Given the description of an element on the screen output the (x, y) to click on. 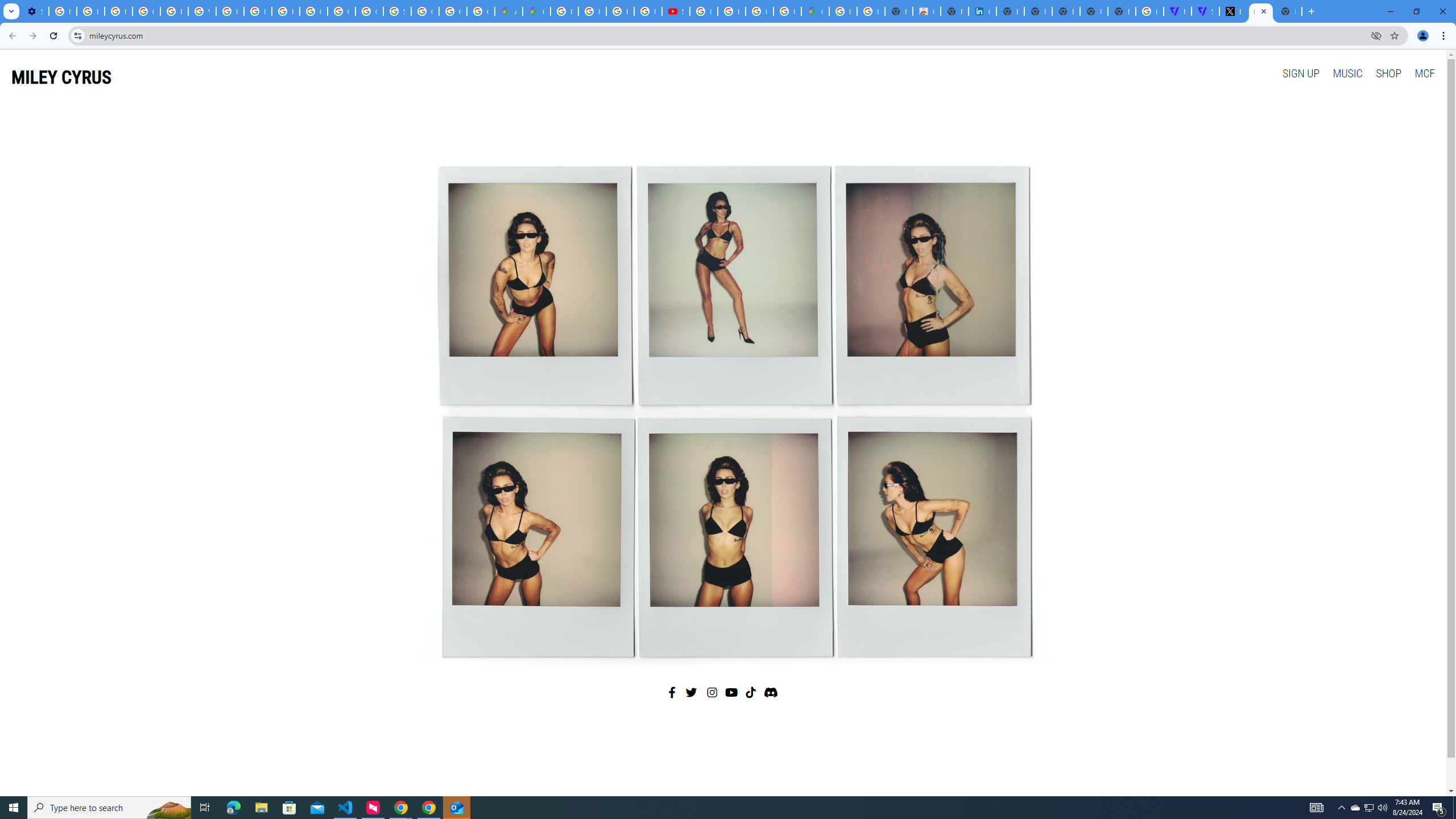
Delete photos & videos - Computer - Google Photos Help (62, 11)
Privacy Help Center - Policies Help (174, 11)
https://scholar.google.com/ (229, 11)
Sign in - Google Accounts (397, 11)
Miley Cyrus (722, 407)
